Given the description of an element on the screen output the (x, y) to click on. 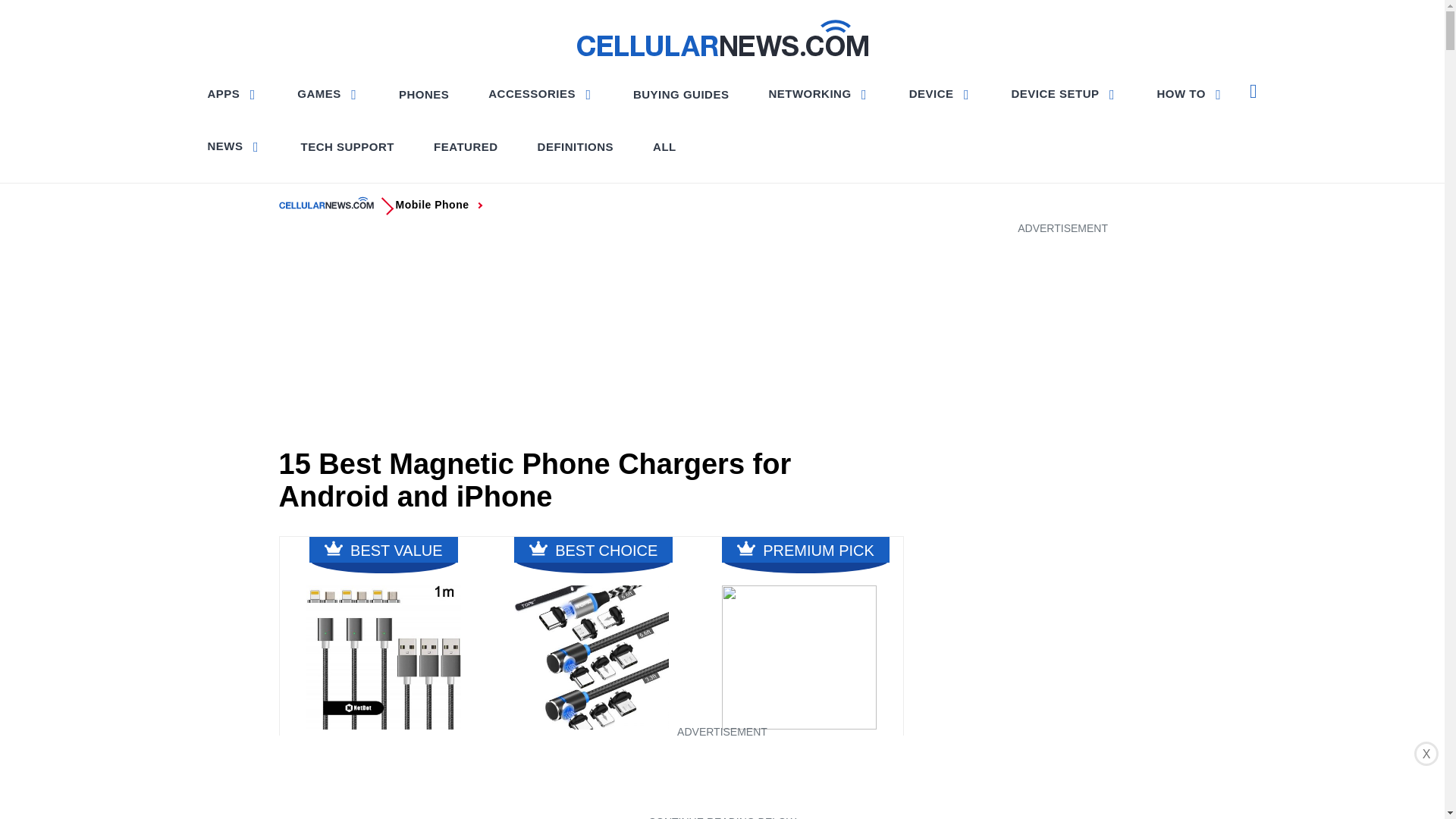
ACCESSORIES (540, 93)
DEVICE (940, 93)
NETWORKING (818, 93)
Advertisement (591, 336)
APPS (233, 93)
Advertisement (721, 775)
GAMES (327, 93)
BUYING GUIDES (681, 94)
PHONES (424, 94)
